Given the description of an element on the screen output the (x, y) to click on. 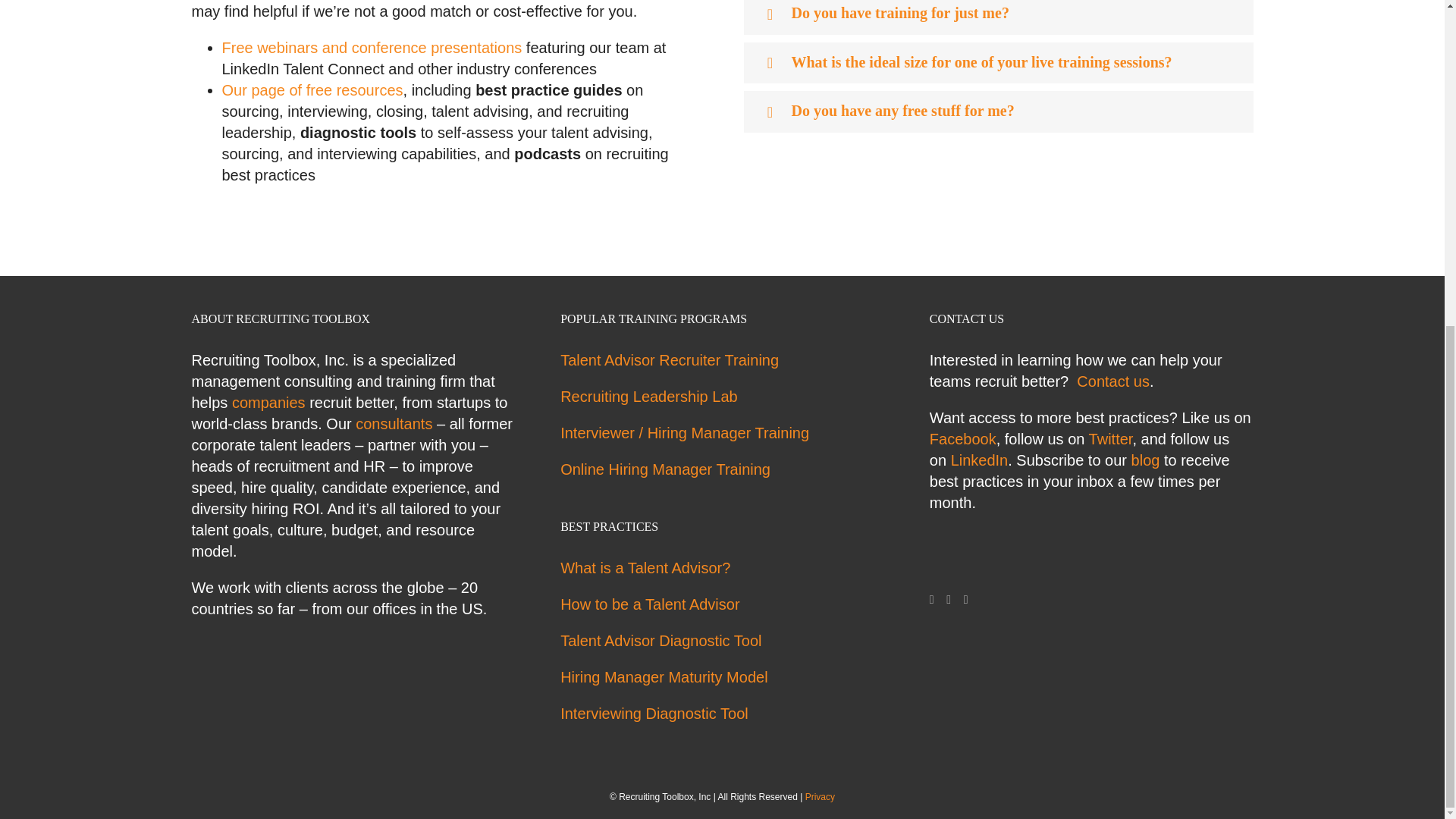
LinkedIn (965, 599)
Facebook (932, 599)
Twitter (948, 599)
